Given the description of an element on the screen output the (x, y) to click on. 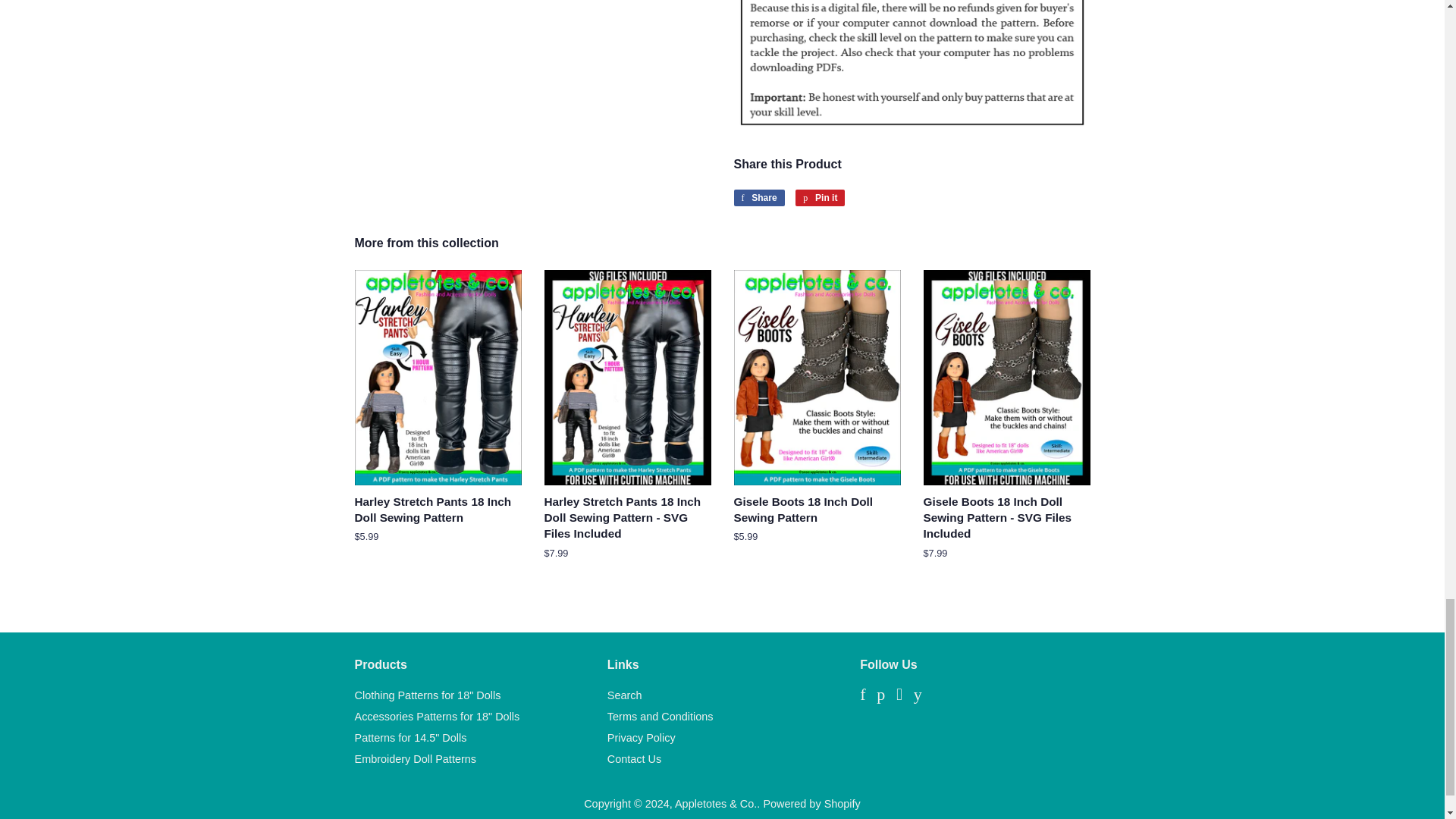
Pin on Pinterest (819, 197)
Share on Facebook (758, 197)
